Given the description of an element on the screen output the (x, y) to click on. 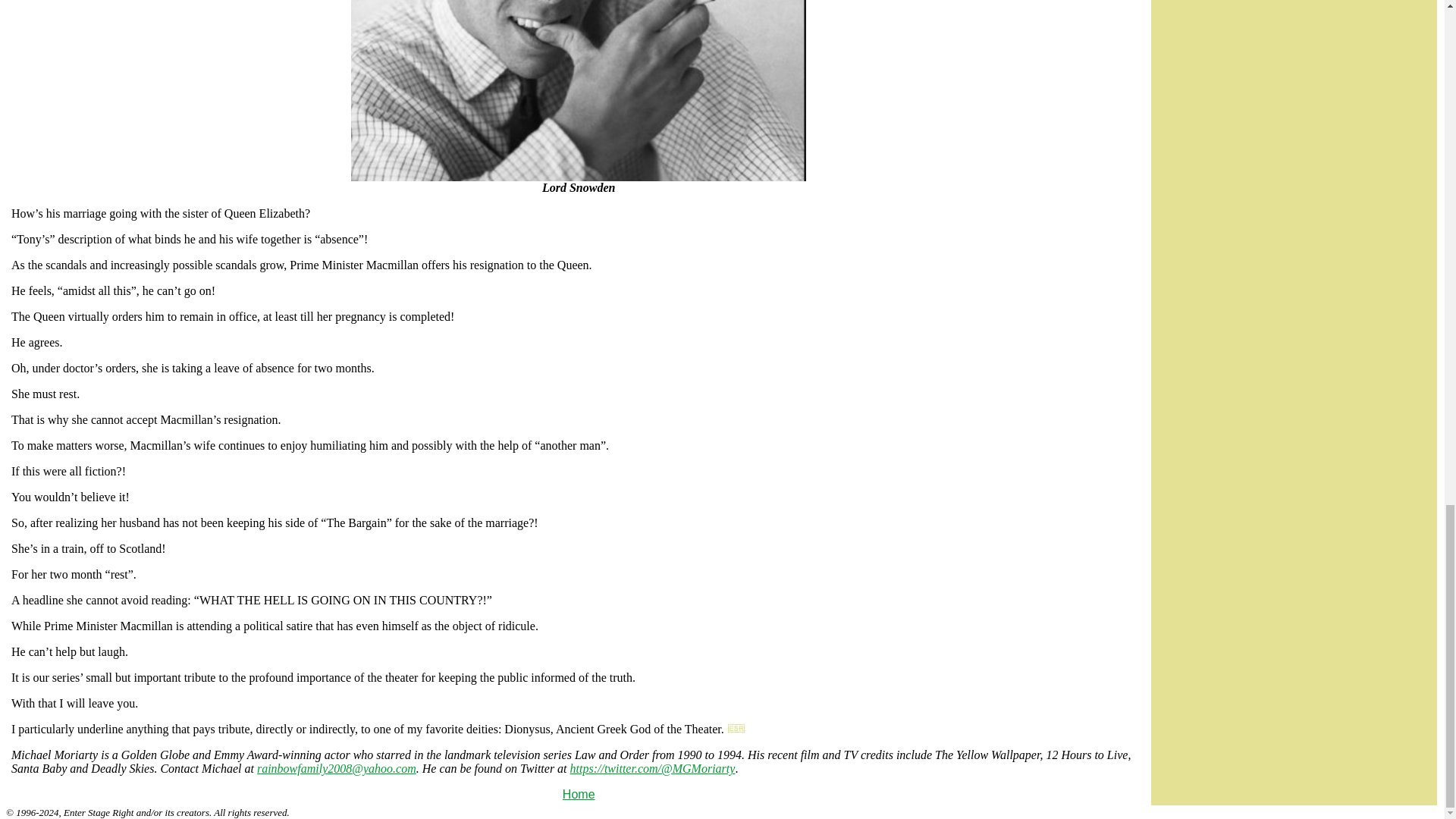
Home (578, 793)
